Given the description of an element on the screen output the (x, y) to click on. 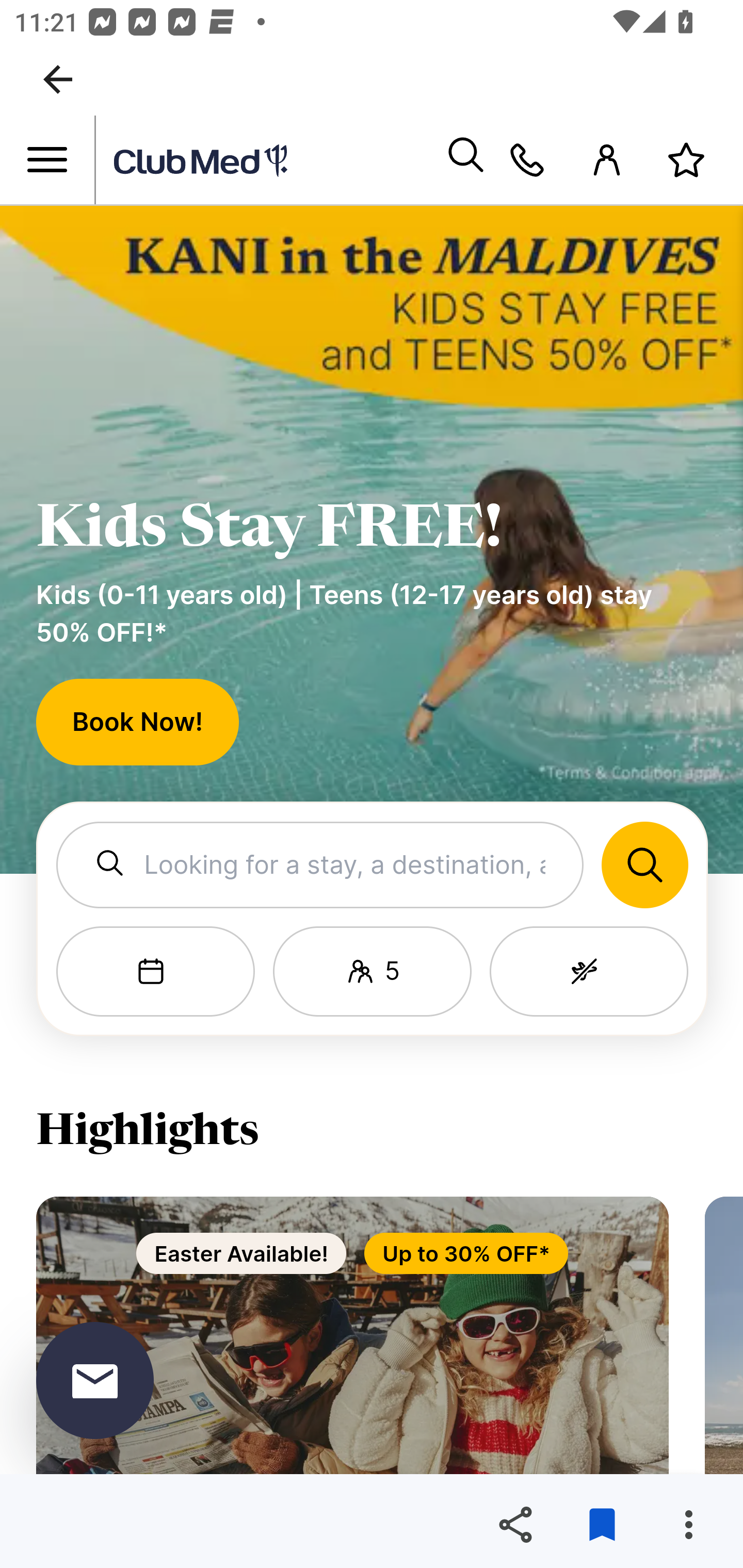
Navigate up (57, 79)
Open main navigation (47, 160)
Club Med Homepage (269, 161)
Search (465, 160)
Your Travel Advisor (526, 160)
Your Account (606, 160)
5 (371, 972)
Share (514, 1524)
Remove from saved stories (601, 1524)
More options (688, 1524)
